Given the description of an element on the screen output the (x, y) to click on. 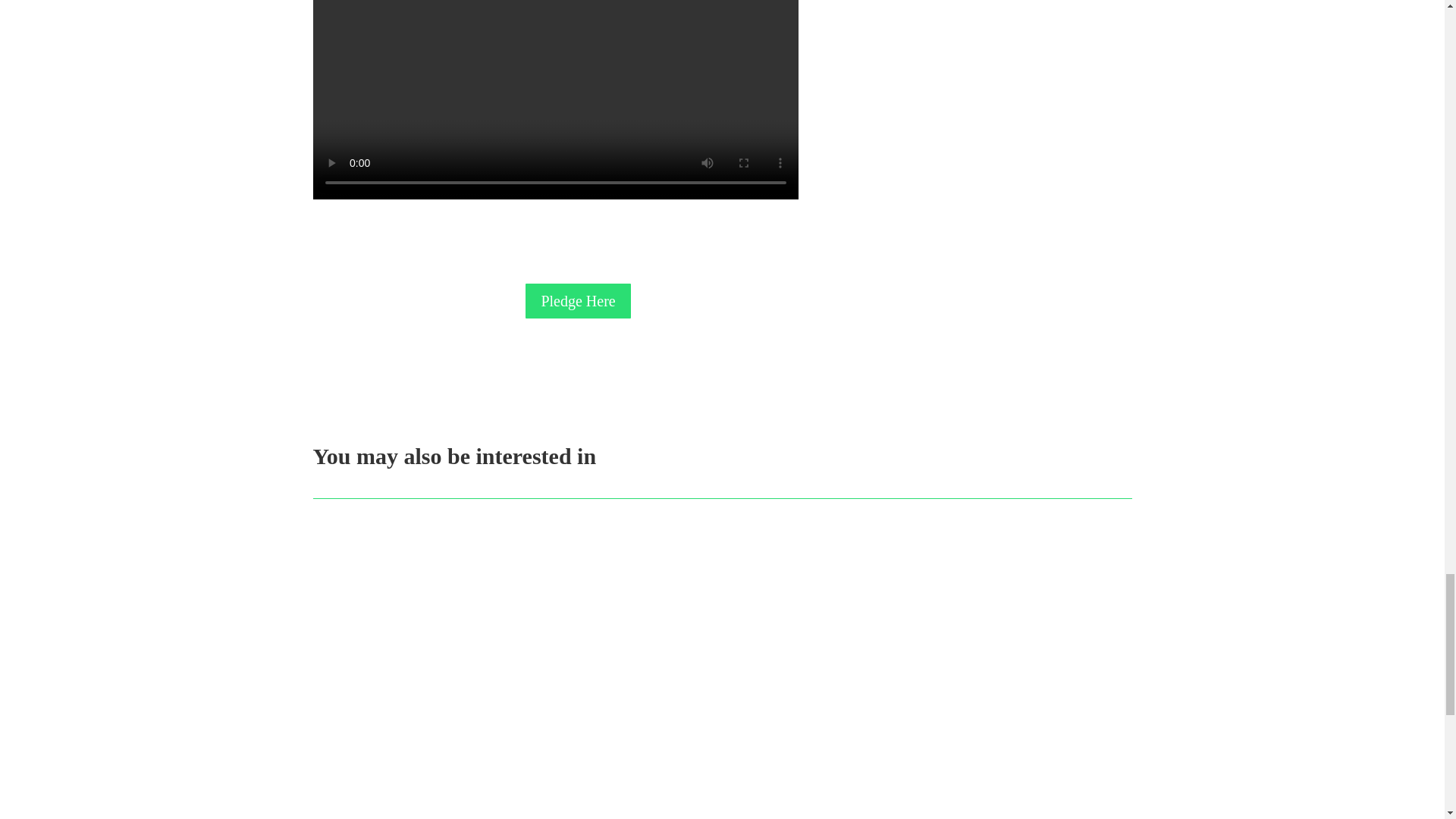
Pledge Here (577, 300)
